Given the description of an element on the screen output the (x, y) to click on. 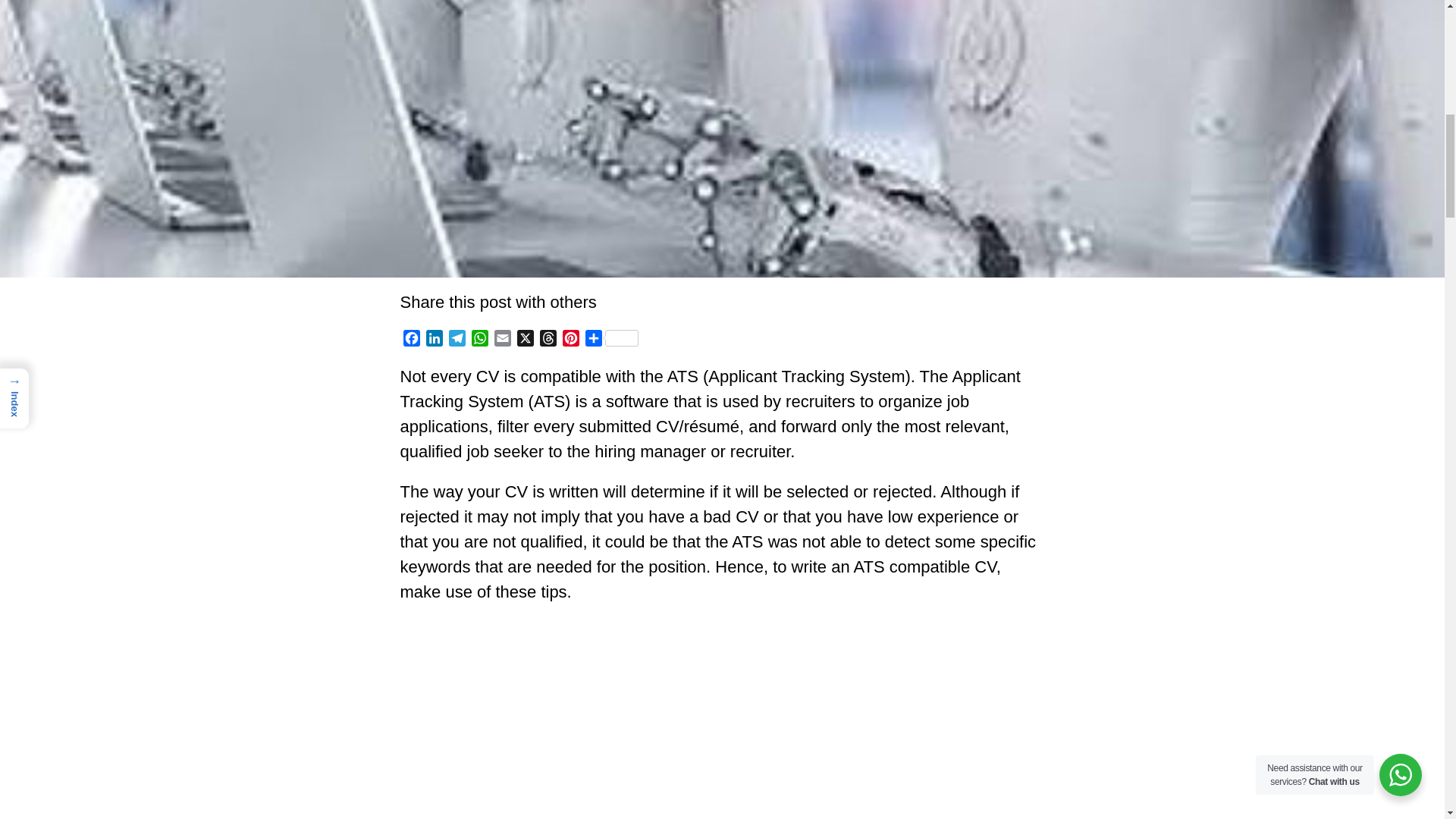
LinkedIn (434, 340)
Telegram (456, 340)
Threads (548, 340)
X (525, 340)
Email (502, 340)
Pinterest (570, 340)
Facebook (411, 340)
WhatsApp (480, 340)
